Given the description of an element on the screen output the (x, y) to click on. 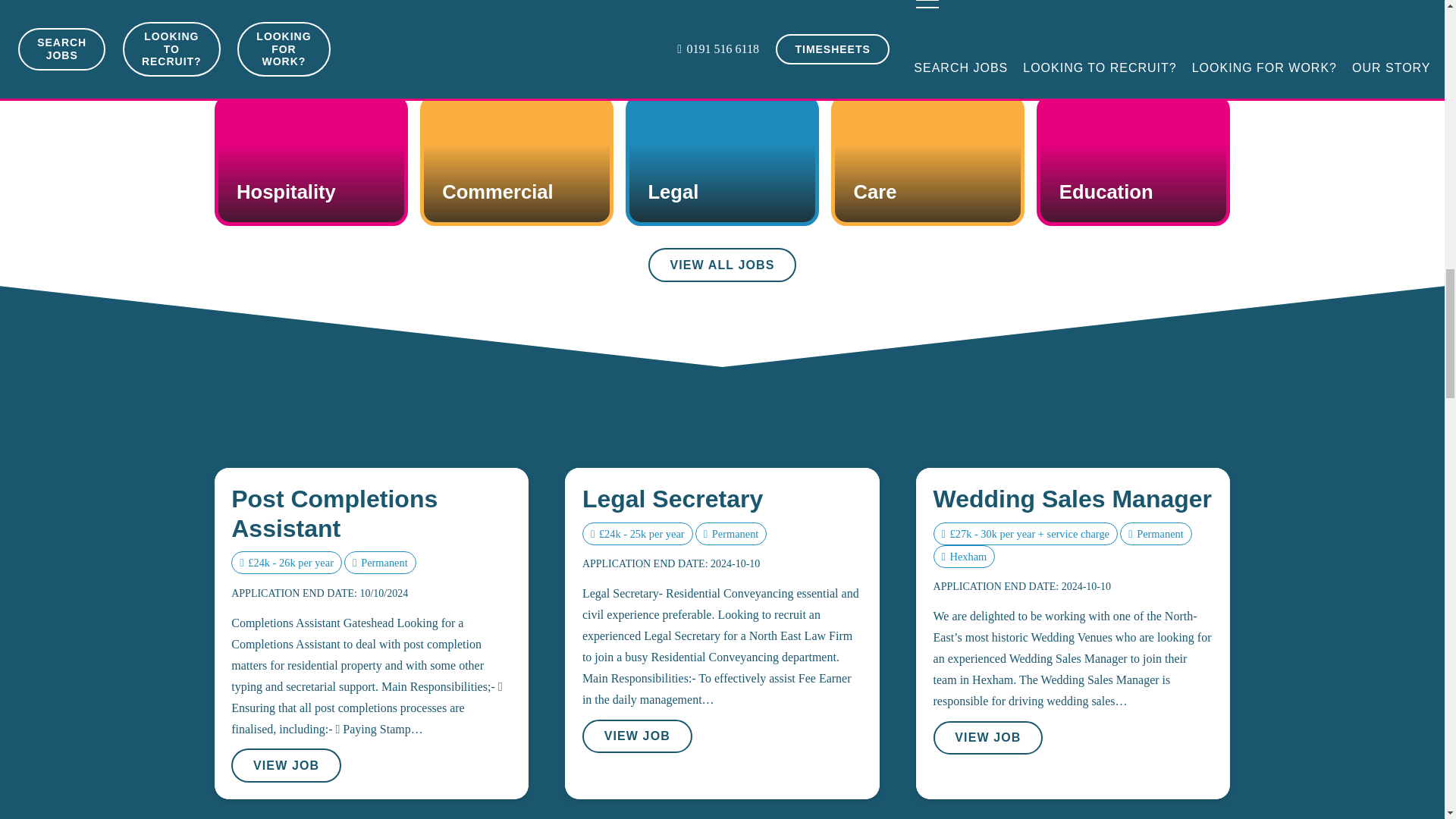
VIEW JOB (637, 736)
VIEW JOB (285, 765)
VIEW ALL JOBS (721, 264)
VIEW JOB (988, 738)
